Given the description of an element on the screen output the (x, y) to click on. 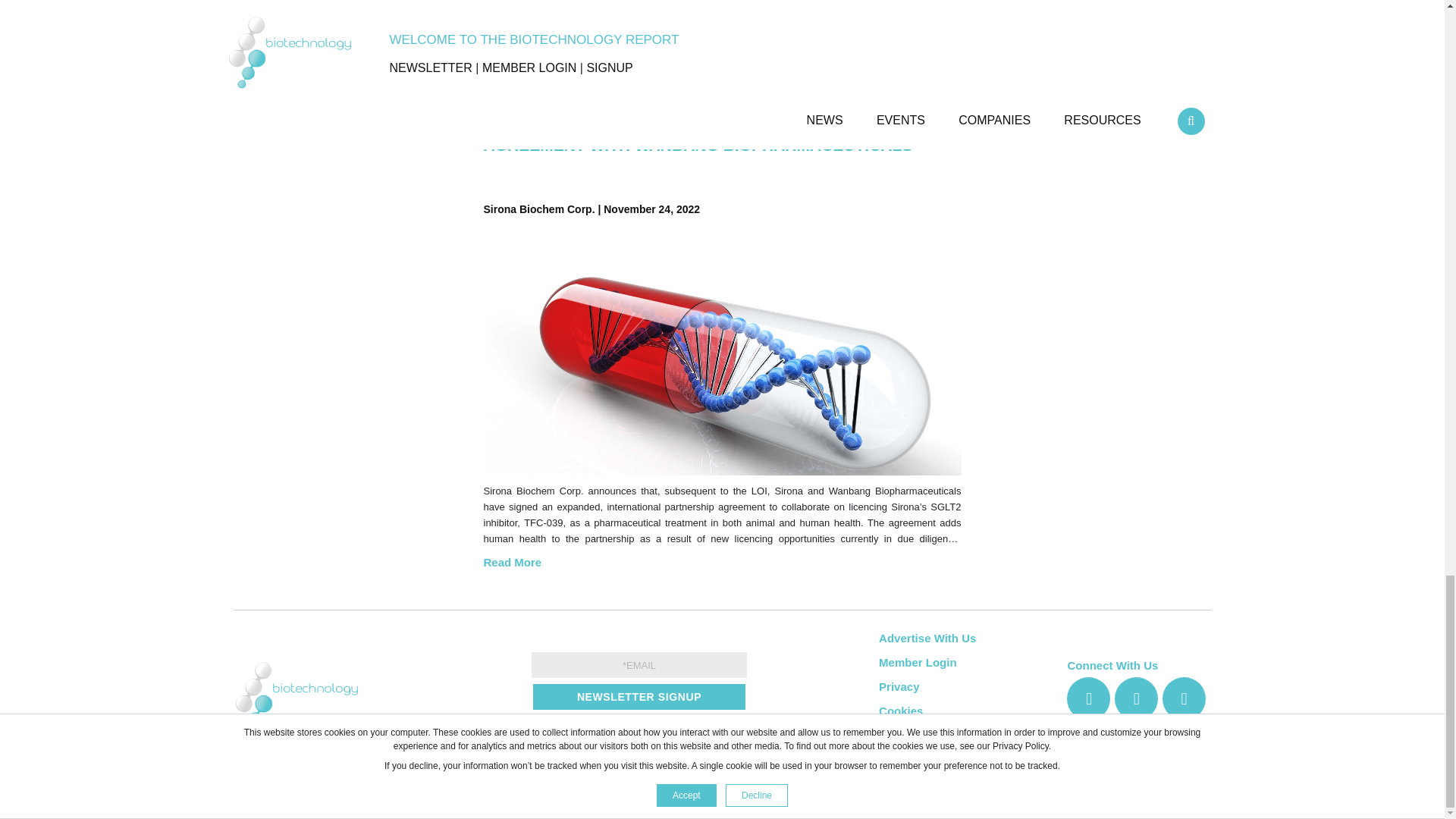
Newsletter Signup (638, 696)
